Given the description of an element on the screen output the (x, y) to click on. 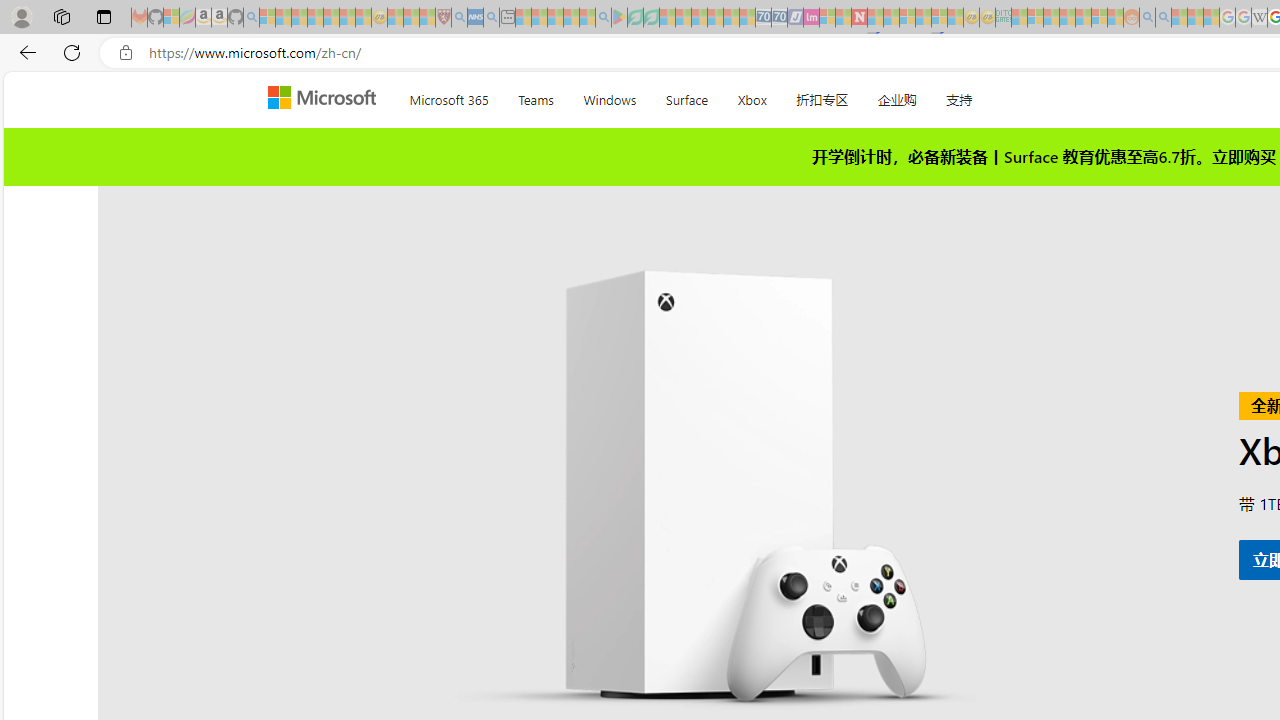
Tab actions menu (104, 16)
Surface (686, 96)
Microsoft account | Privacy - Sleeping (1035, 17)
Refresh (72, 52)
Recipes - MSN - Sleeping (395, 17)
Teams (536, 96)
utah sues federal government - Search - Sleeping (491, 17)
